Given the description of an element on the screen output the (x, y) to click on. 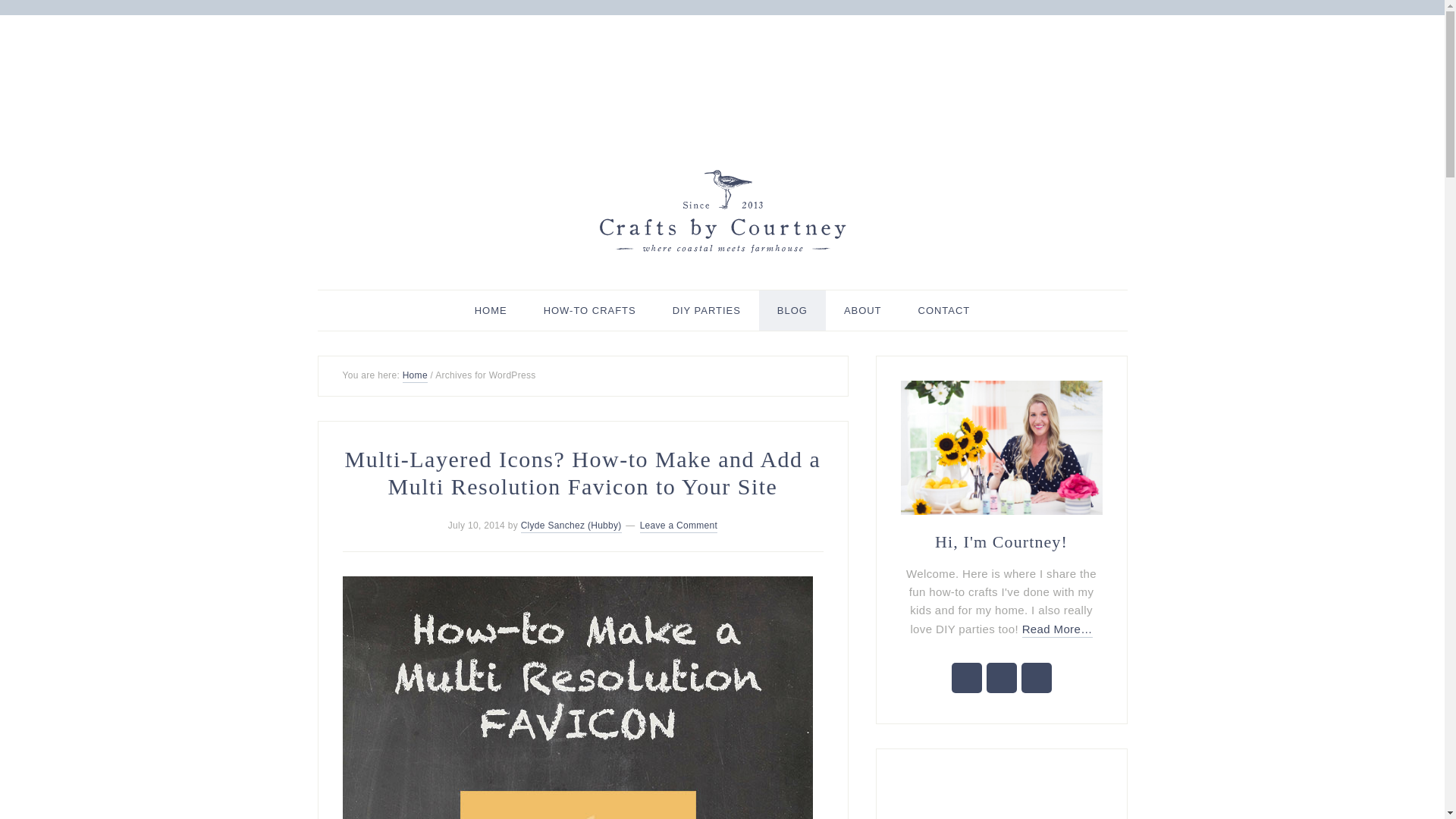
HOW-TO CRAFTS (589, 310)
ABOUT (862, 310)
BLOG (791, 310)
CONTACT (943, 310)
HOME (491, 310)
DIY PARTIES (705, 310)
Leave a Comment (678, 526)
Home (415, 376)
Crafts by Courtney (721, 211)
